Given the description of an element on the screen output the (x, y) to click on. 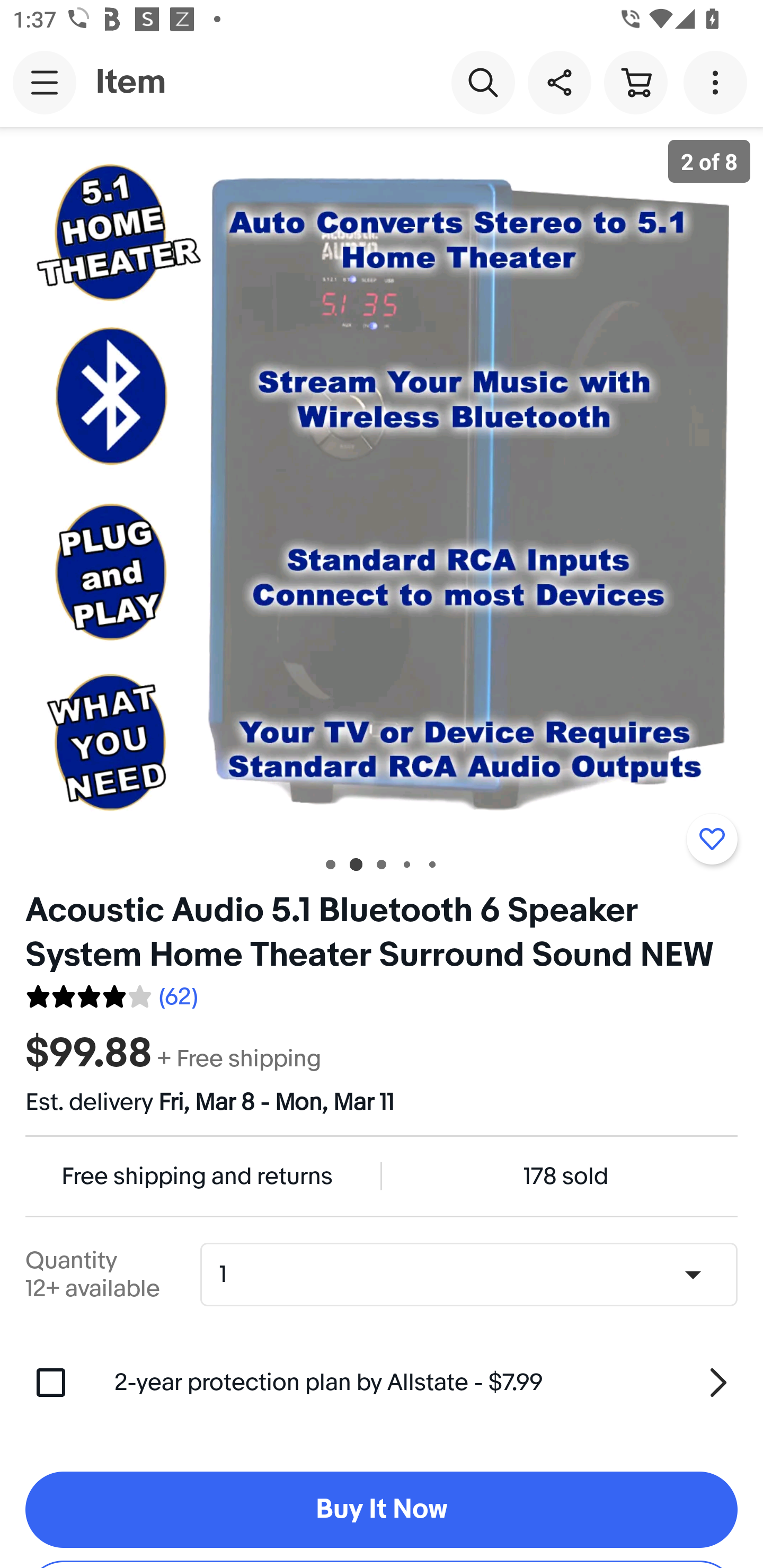
Main navigation, open (44, 82)
Search (482, 81)
Share this item (559, 81)
Cart button shopping cart (635, 81)
More options (718, 81)
Item image 2 of 8 (381, 482)
Add to watchlist (711, 838)
Quantity,1,12+ available 1 (474, 1274)
2-year protection plan by Allstate - $7.99 (425, 1382)
Buy It Now (381, 1509)
